Given the description of an element on the screen output the (x, y) to click on. 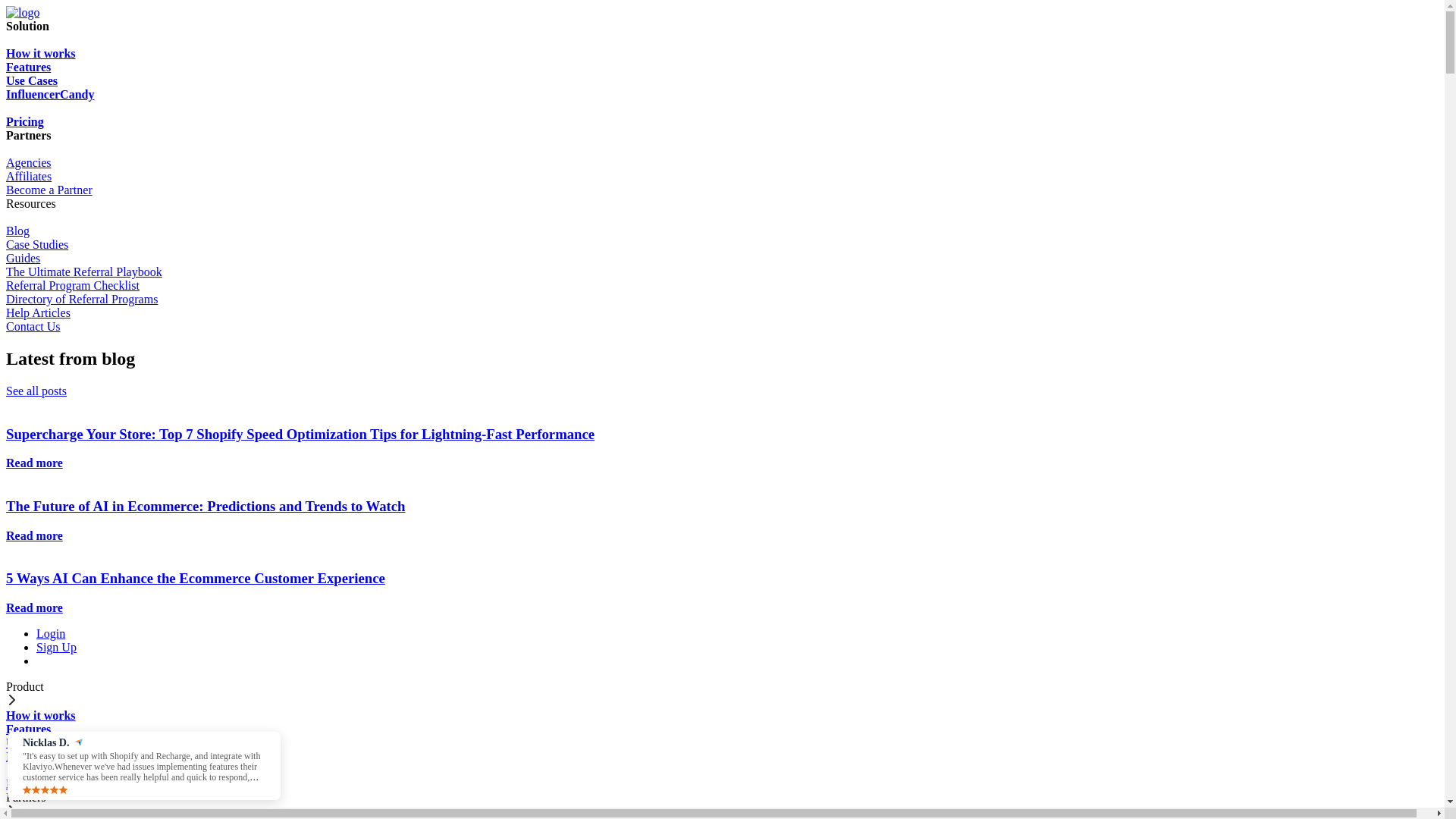
How it works Element type: text (722, 715)
Contact Us Element type: text (722, 326)
Guides Element type: text (722, 258)
Case Studies Element type: text (722, 244)
See all posts Element type: text (36, 390)
Become a Partner Element type: text (722, 190)
Influencer Candy Element type: text (722, 762)
Help Articles Element type: text (722, 313)
Use Cases Element type: text (722, 742)
Pricing Element type: text (722, 783)
Sign Up Element type: text (56, 646)
Features Element type: text (722, 67)
The Ultimate Referral Playbook Element type: text (722, 272)
Affiliates Element type: text (722, 176)
Blog Element type: text (722, 231)
Pricing Element type: text (722, 121)
How it works Element type: text (722, 53)
Features Element type: text (722, 729)
Login Element type: text (50, 633)
Use Cases Element type: text (722, 80)
InfluencerCandy Element type: text (722, 100)
Agencies Element type: text (722, 162)
Directory of Referral Programs Element type: text (722, 299)
Referral Program Checklist Element type: text (722, 285)
